Given the description of an element on the screen output the (x, y) to click on. 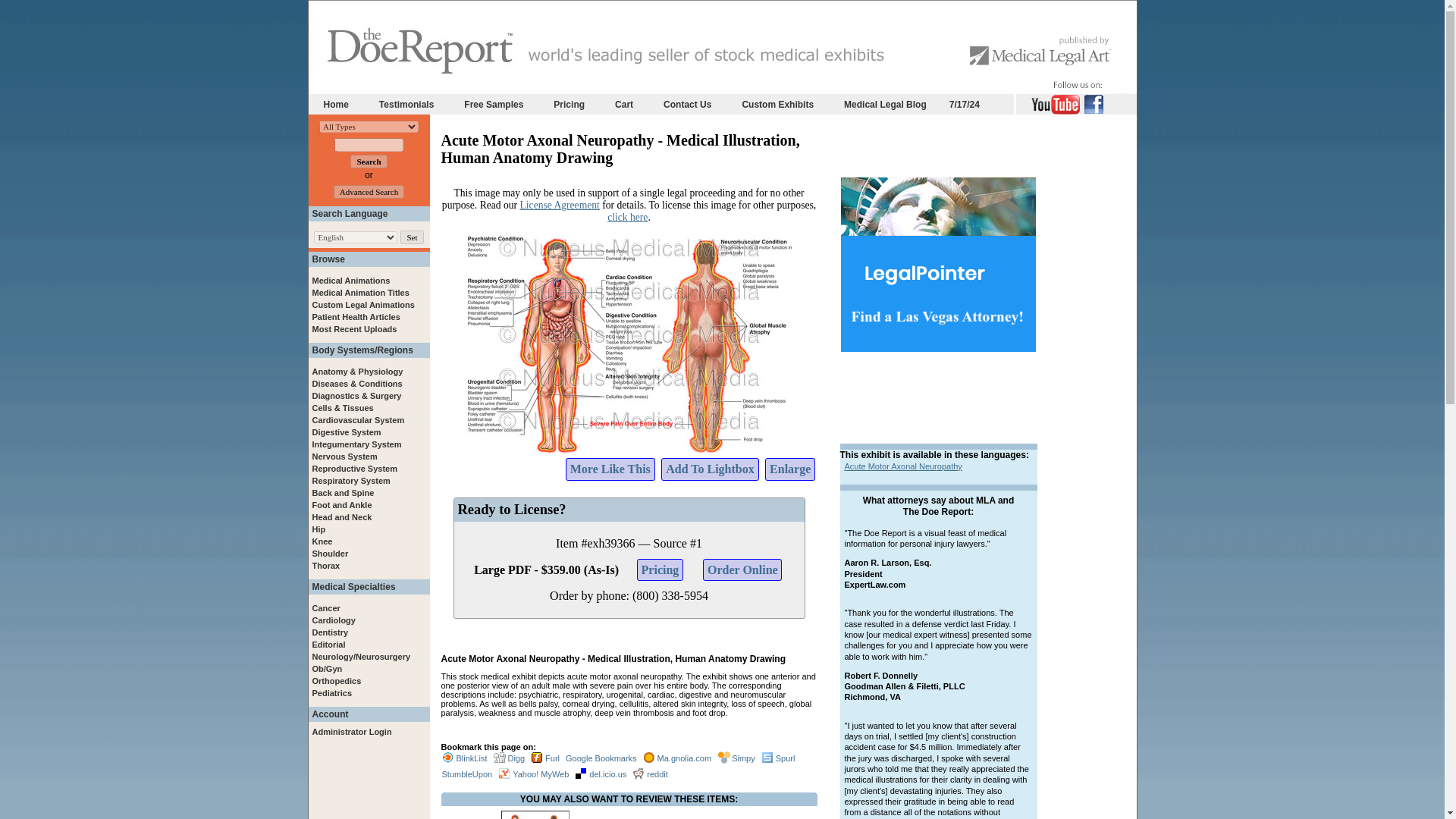
Cancer (326, 607)
Set (411, 237)
Medical Animations (351, 280)
Search (368, 161)
Testimonials (406, 103)
Medical Animation Titles (361, 292)
Thorax (326, 565)
Integumentary System (357, 443)
Editorial (329, 644)
Cardiology (334, 619)
Hip (319, 528)
Foot and Ankle (342, 504)
Free Samples (494, 103)
Nervous System (345, 456)
Head and Neck (342, 516)
